Given the description of an element on the screen output the (x, y) to click on. 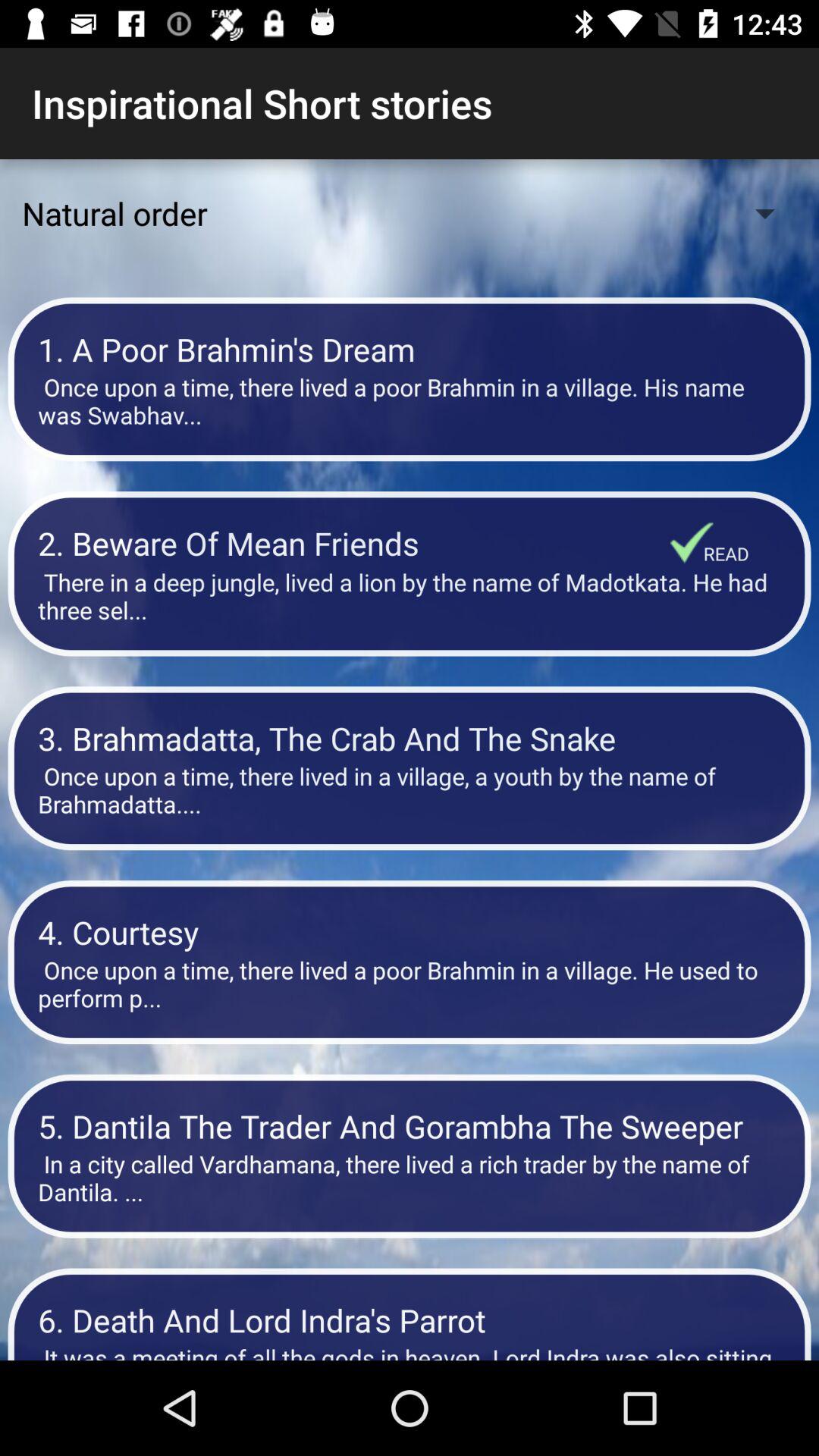
click the item below the once upon a item (691, 542)
